Given the description of an element on the screen output the (x, y) to click on. 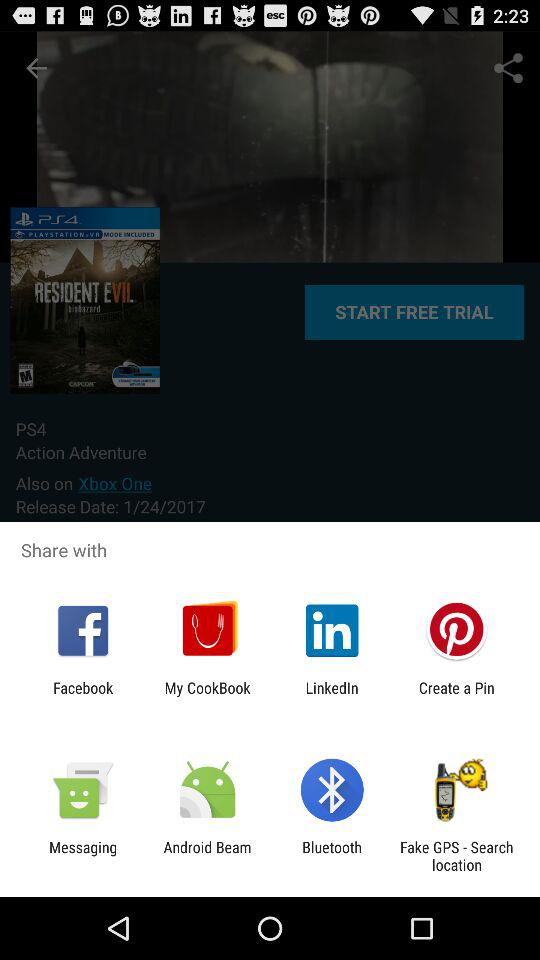
flip until the facebook icon (83, 696)
